Given the description of an element on the screen output the (x, y) to click on. 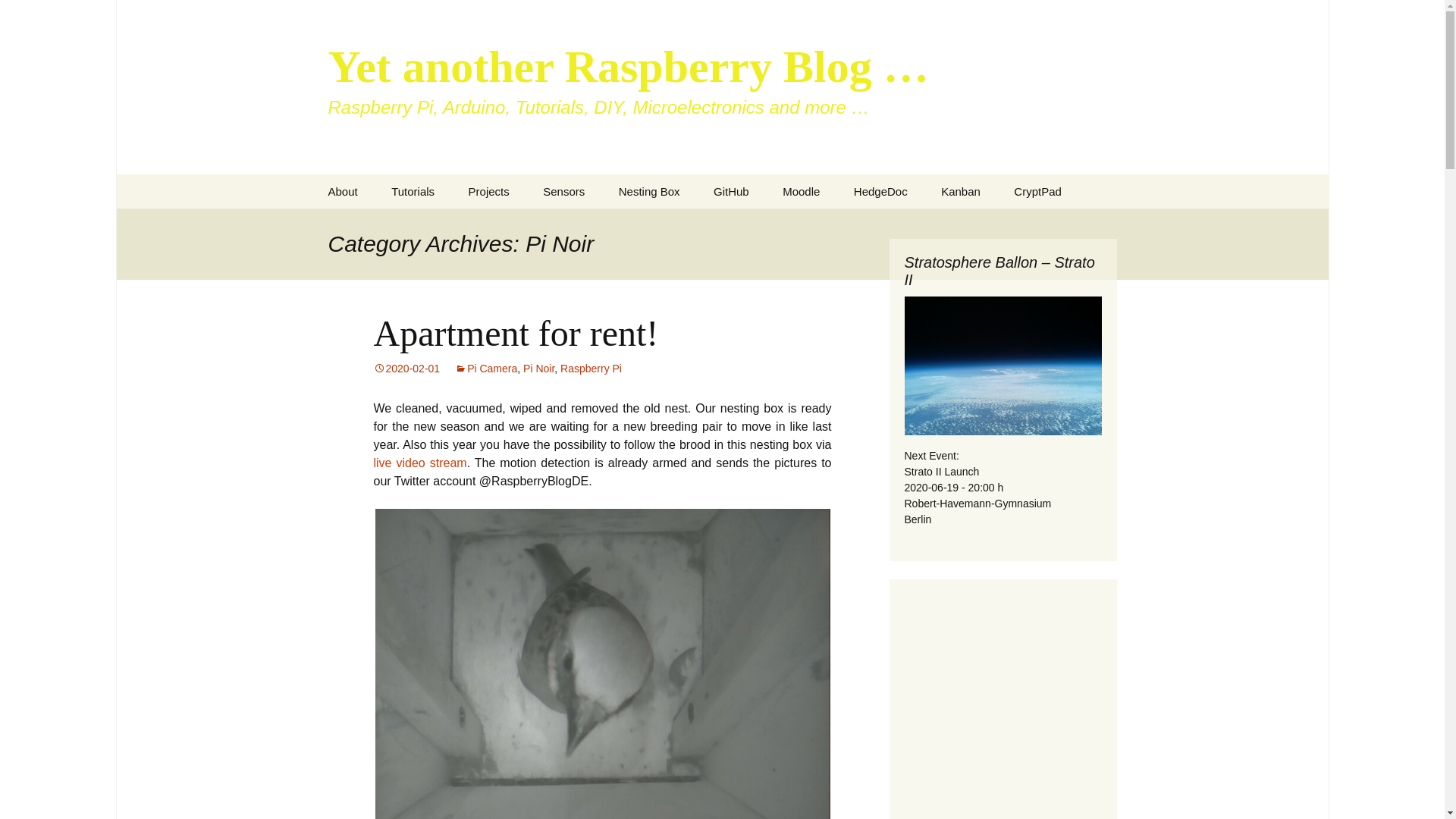
Raspberry (528, 225)
Tutorials (412, 191)
About (342, 191)
Projects (488, 191)
My Github Repo (731, 191)
Permalink to Apartment for rent! (405, 368)
Raspberry Pi (451, 225)
